Given the description of an element on the screen output the (x, y) to click on. 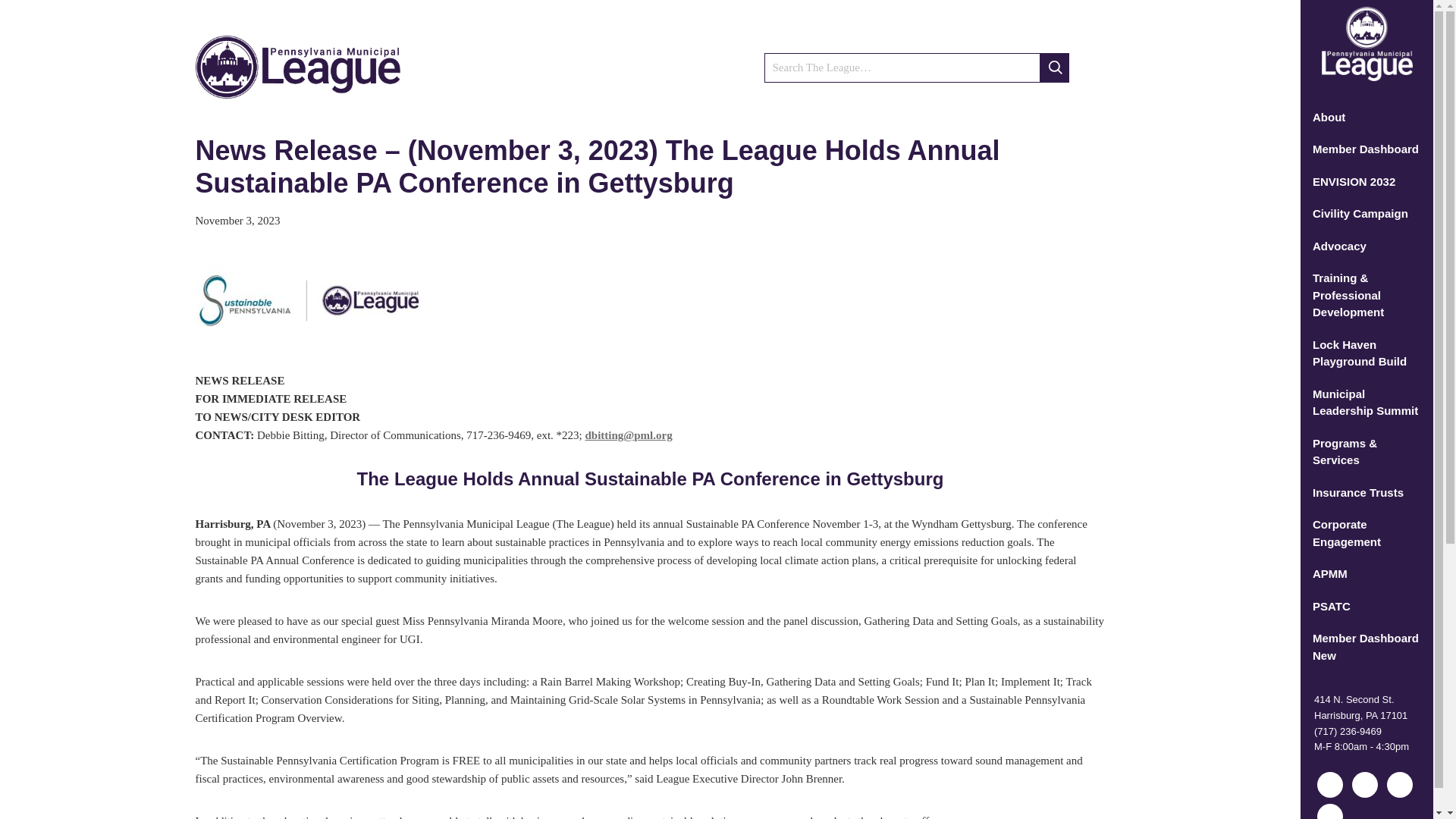
Default Label (1329, 784)
ENVISION 2032 (1366, 182)
About (1366, 117)
Member Dashboard (1366, 149)
Default Label (1364, 784)
Default Label (1399, 784)
Lock Haven Playground Build (1366, 353)
Civility Campaign (1366, 214)
Municipal Leadership Summit (1366, 402)
Advocacy (1366, 246)
Search for (915, 67)
